Given the description of an element on the screen output the (x, y) to click on. 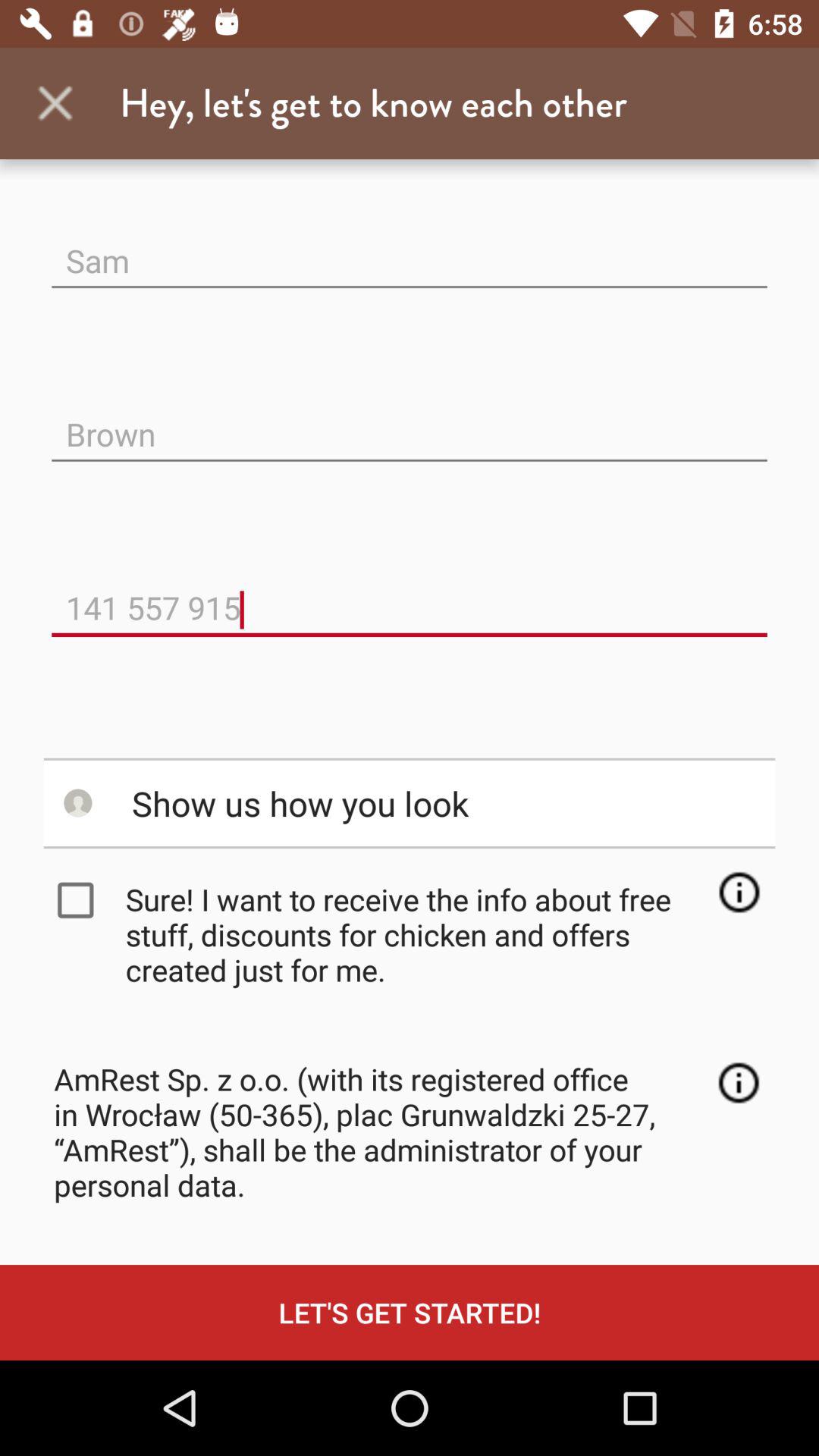
instruction (738, 892)
